Given the description of an element on the screen output the (x, y) to click on. 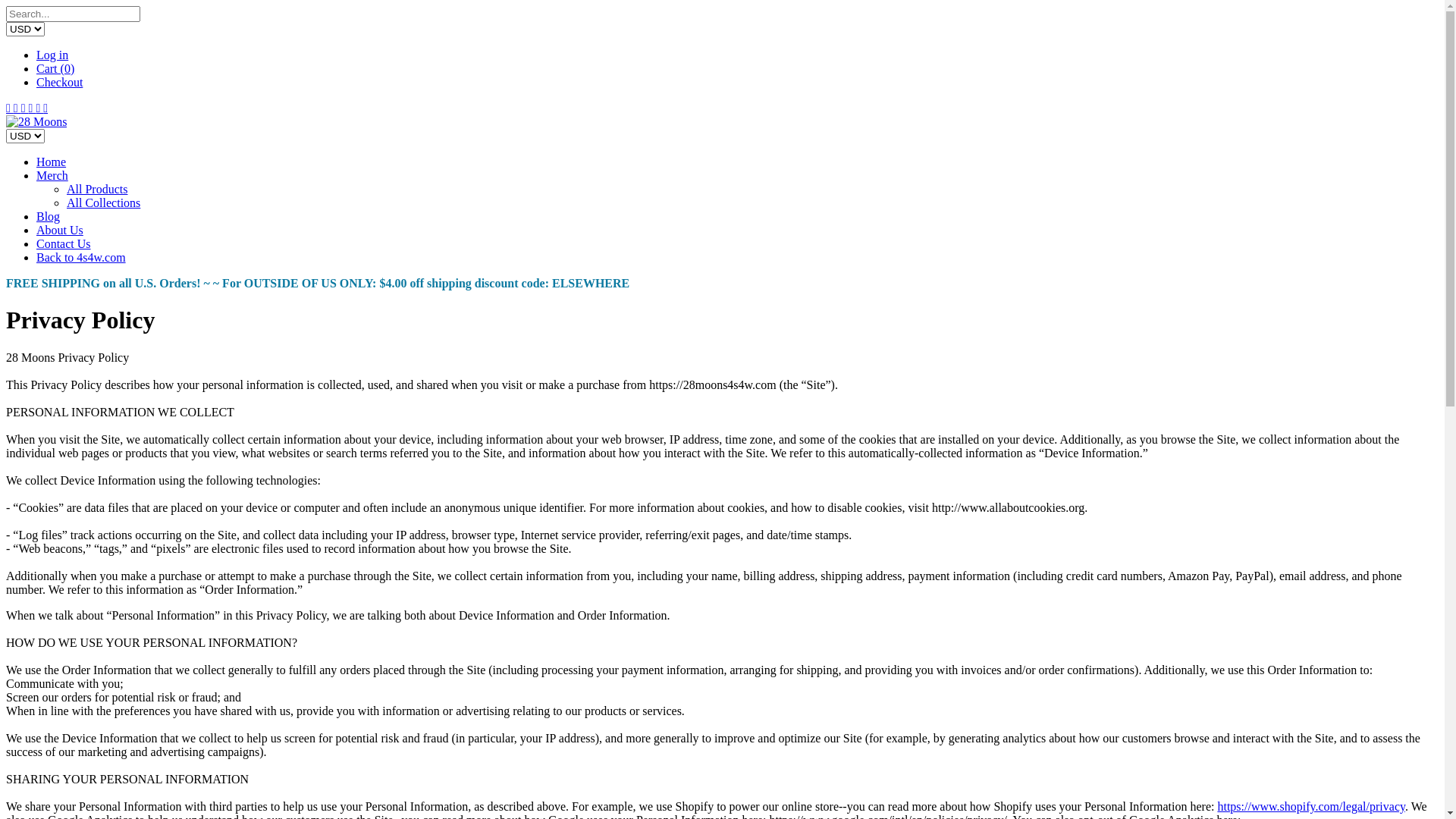
All Collections Element type: text (103, 202)
Checkout Element type: text (59, 81)
https://www.shopify.com/legal/privacy Element type: text (1311, 806)
Blog Element type: text (47, 216)
Back to 4s4w.com Element type: text (80, 257)
Contact Us Element type: text (63, 243)
About Us Element type: text (59, 229)
All Products Element type: text (96, 188)
Merch Element type: text (52, 175)
Log in Element type: text (52, 54)
Home Element type: text (50, 161)
Cart (0) Element type: text (55, 68)
28 Moons Element type: hover (36, 121)
